Given the description of an element on the screen output the (x, y) to click on. 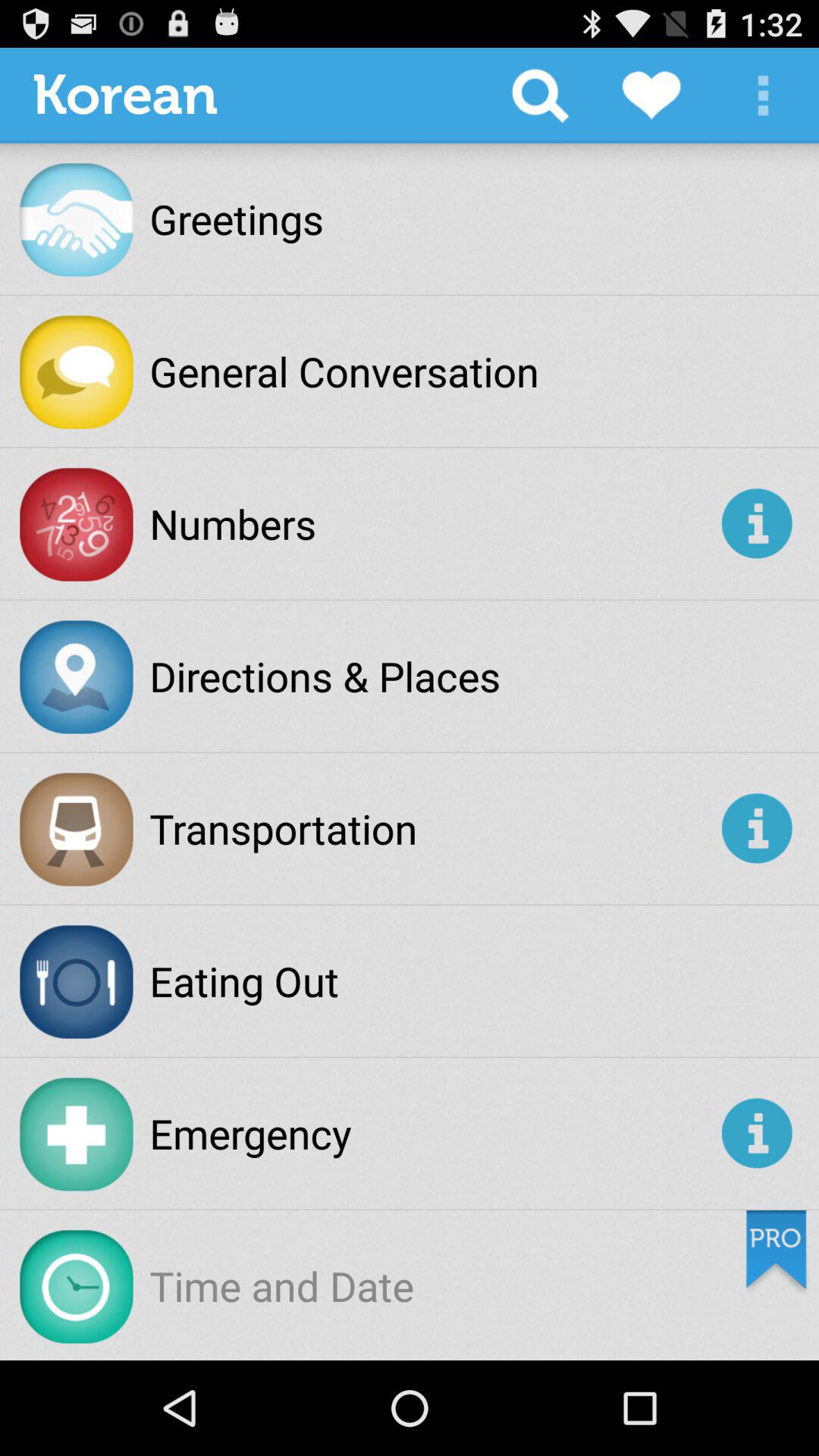
swipe to emergency icon (432, 1132)
